Given the description of an element on the screen output the (x, y) to click on. 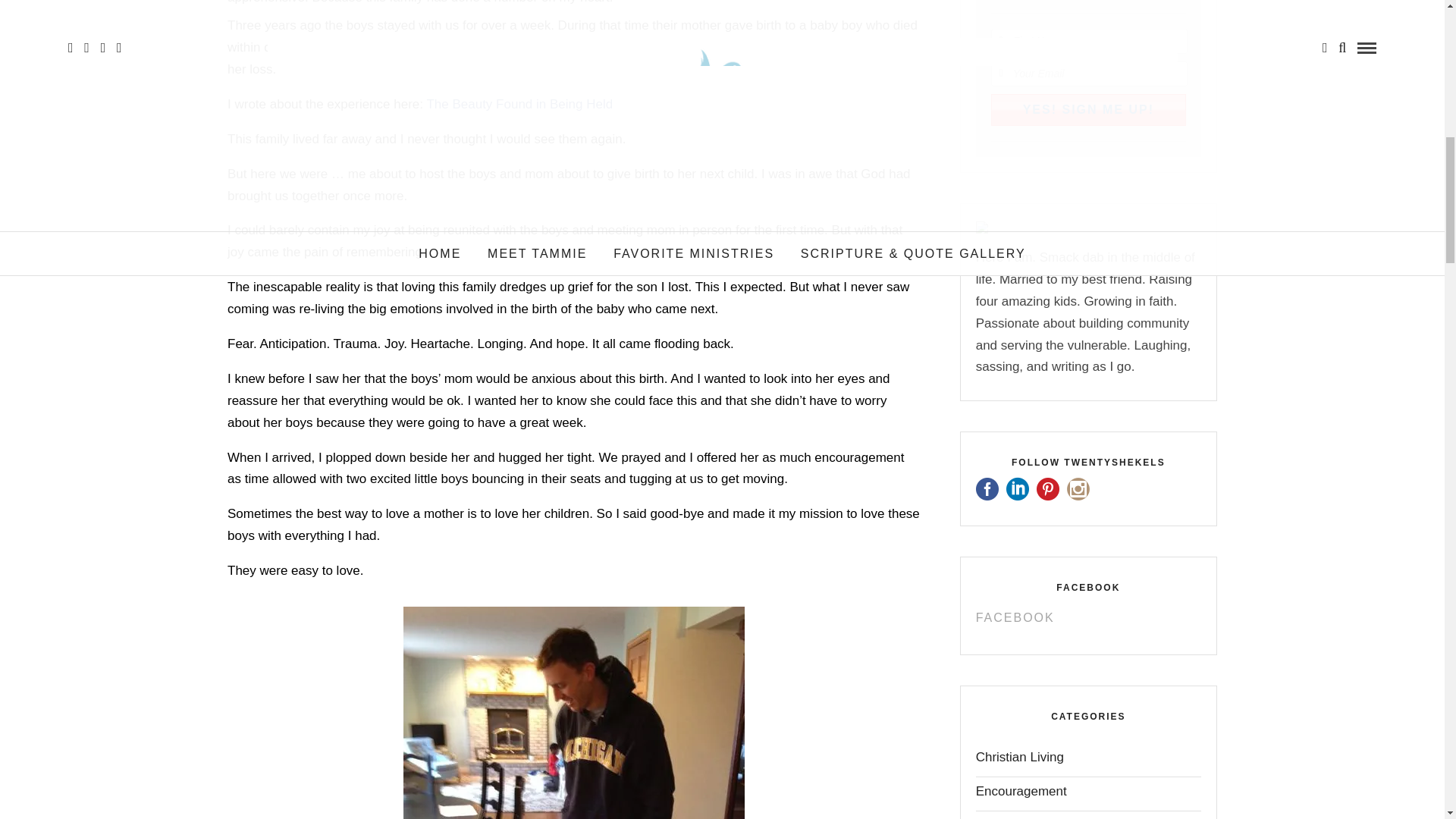
FACEBOOK (1088, 587)
Yes! Sign me up! (1088, 110)
Encouragement (1021, 795)
Family Life (1006, 816)
Yes! Sign me up! (1088, 110)
The Beauty Found in Being Held (519, 104)
FACEBOOK (1014, 617)
Christian Living (1019, 761)
